Given the description of an element on the screen output the (x, y) to click on. 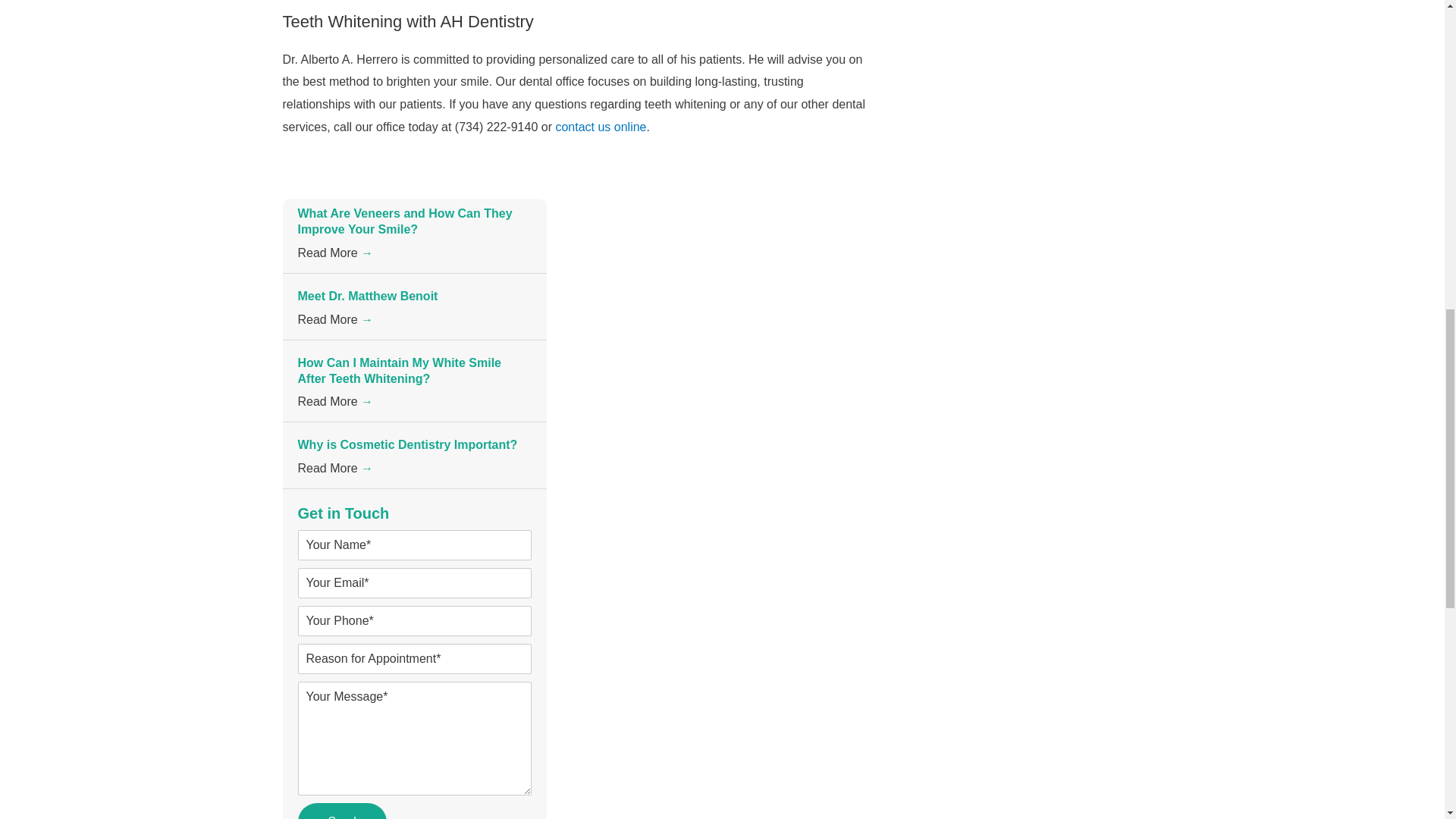
Send (341, 811)
Read More (334, 252)
How Can I Maintain My White Smile After Teeth Whitening? (398, 370)
Read More (334, 468)
Meet Dr. Matthew Benoit (367, 295)
Why is Cosmetic Dentistry Important? (406, 444)
What Are Veneers and How Can They Improve Your Smile? (404, 221)
Read More (334, 318)
Read More (334, 400)
